Given the description of an element on the screen output the (x, y) to click on. 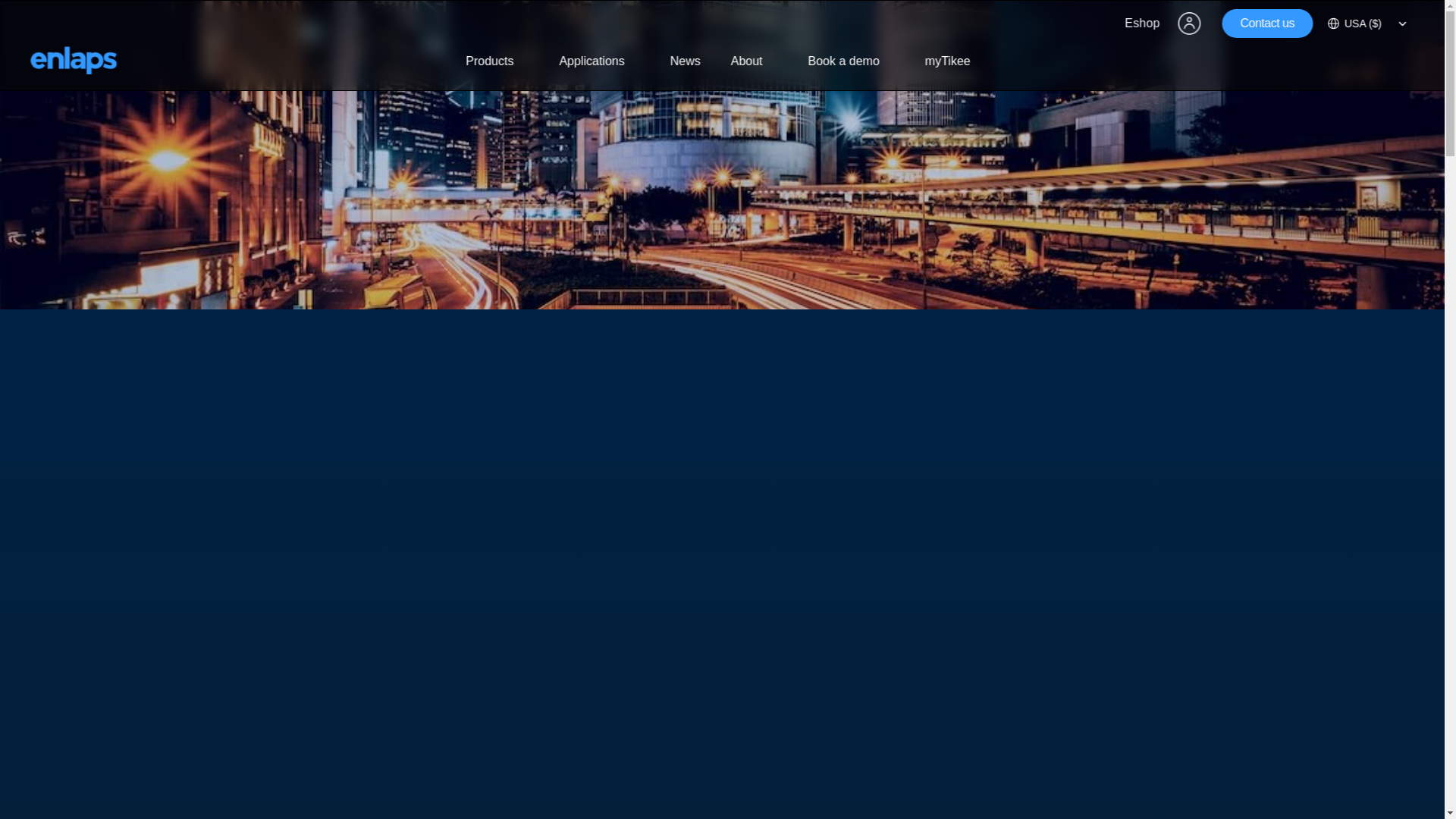
About (754, 60)
Products (496, 60)
News (685, 60)
creating a project milestone video (455, 489)
myTikee (947, 60)
Applications (598, 60)
Contact us (1268, 23)
Book a demo (851, 60)
Eshop (1142, 23)
